Given the description of an element on the screen output the (x, y) to click on. 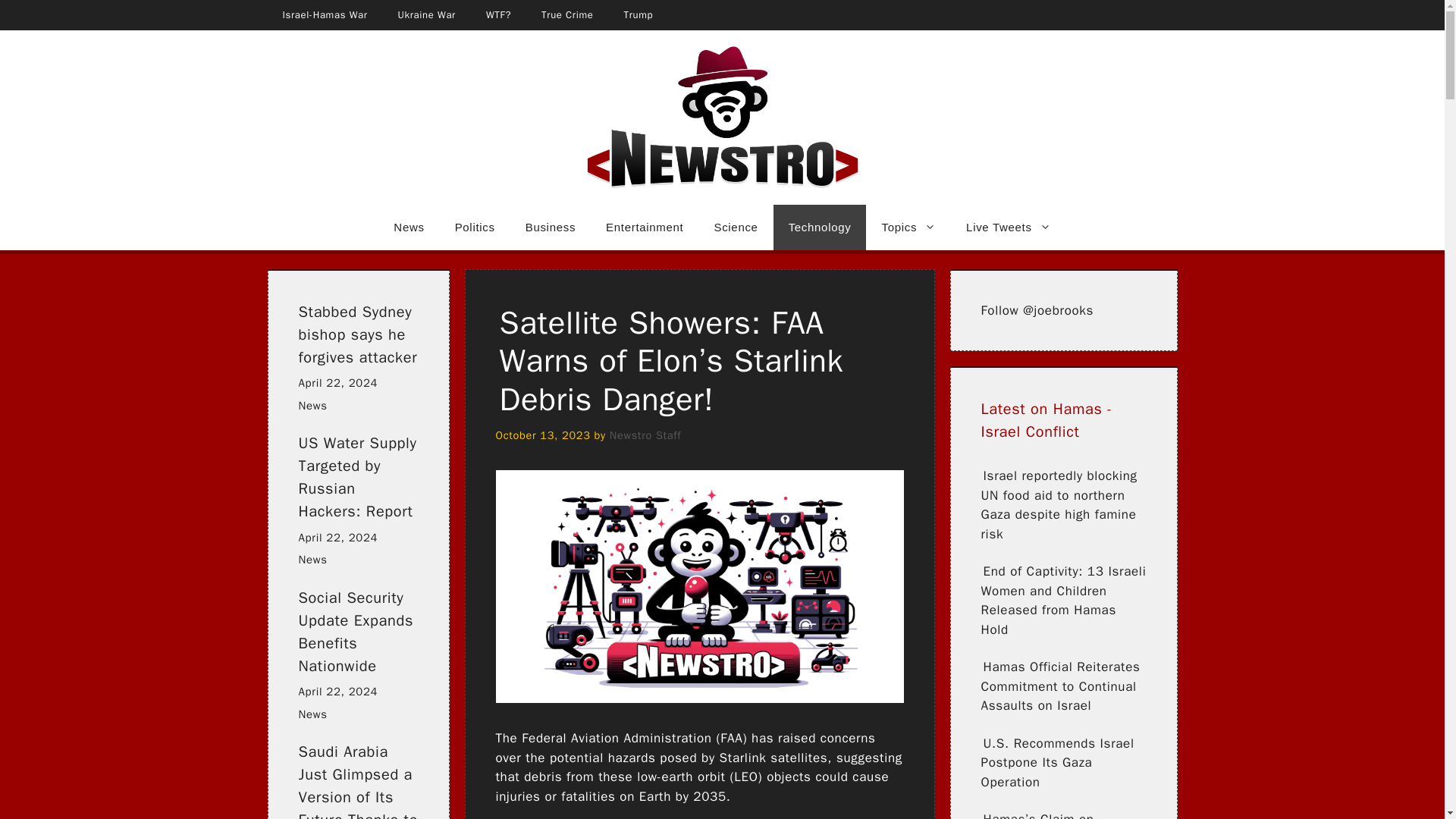
Technology (819, 227)
Business (551, 227)
Topics (908, 227)
True Crime (566, 15)
Newstro Staff (645, 435)
Ukraine War (426, 15)
Israel-Hamas War (323, 15)
Entertainment (644, 227)
Science (735, 227)
News (408, 227)
WTF? (497, 15)
View all posts by Newstro Staff (645, 435)
Live Tweets (1007, 227)
Politics (475, 227)
Trump (638, 15)
